Given the description of an element on the screen output the (x, y) to click on. 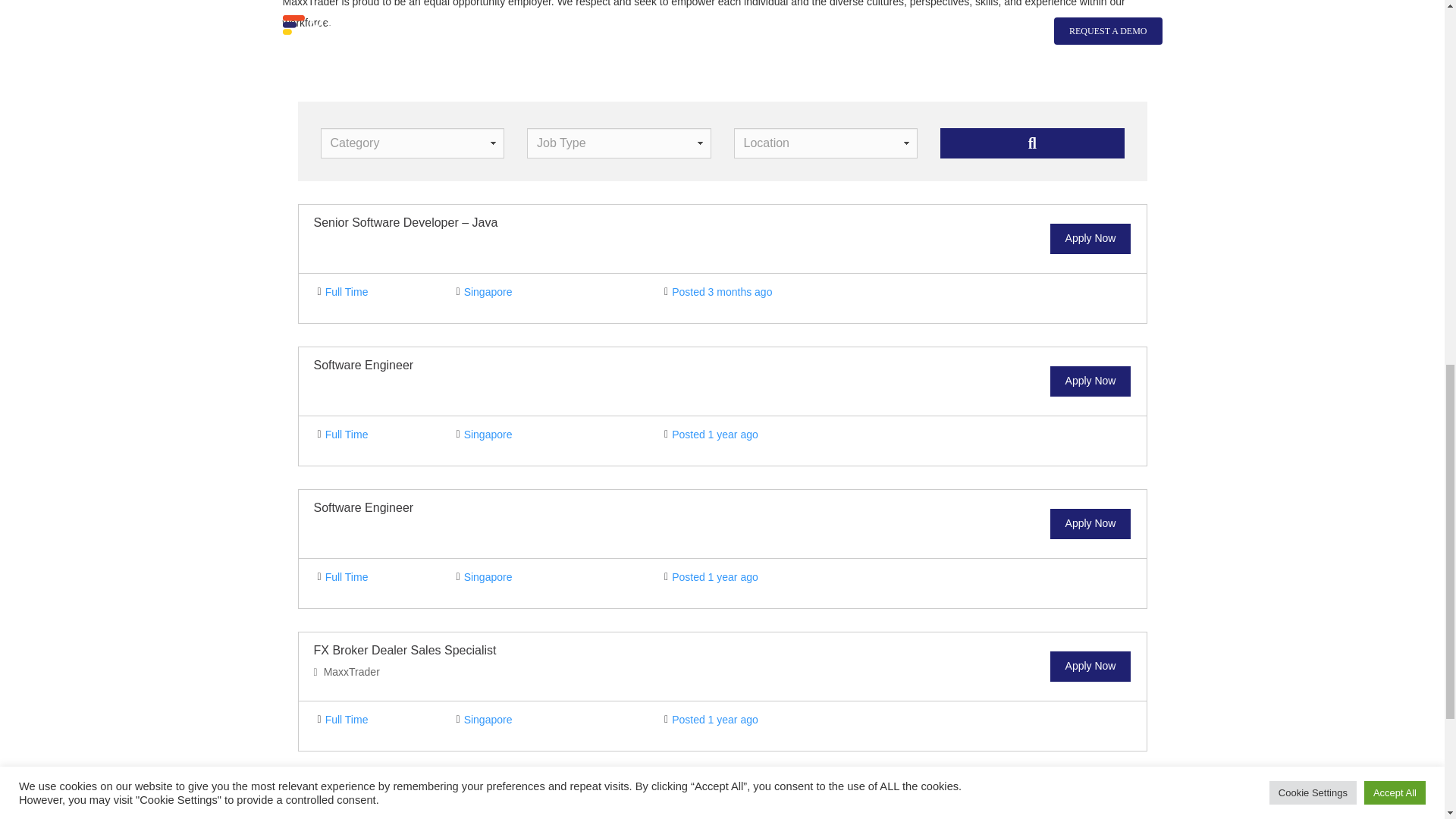
Software Engineer (363, 507)
Apply Now (1090, 238)
FX Broker Dealer Sales Specialist (405, 649)
Software Engineer (363, 364)
Apply Now (1090, 666)
Apply Now (1090, 523)
Apply Now (1090, 381)
